Given the description of an element on the screen output the (x, y) to click on. 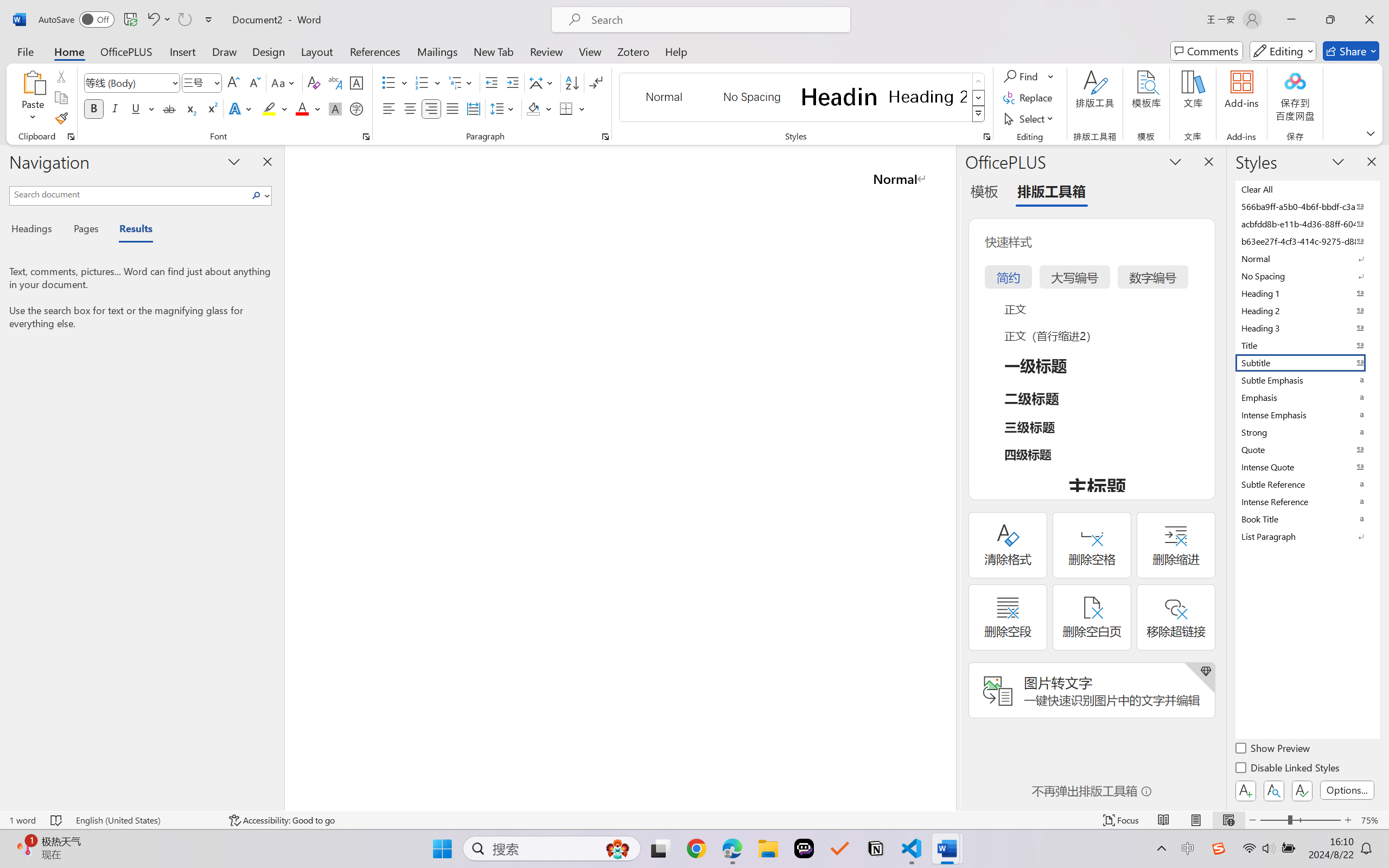
Clear Formatting (313, 82)
Align Right (431, 108)
References (375, 51)
Clear All (1306, 188)
Insert (182, 51)
Styles... (986, 136)
Review (546, 51)
No Spacing (1306, 275)
Font... (365, 136)
acbfdd8b-e11b-4d36-88ff-6049b138f862 (1306, 223)
